Given the description of an element on the screen output the (x, y) to click on. 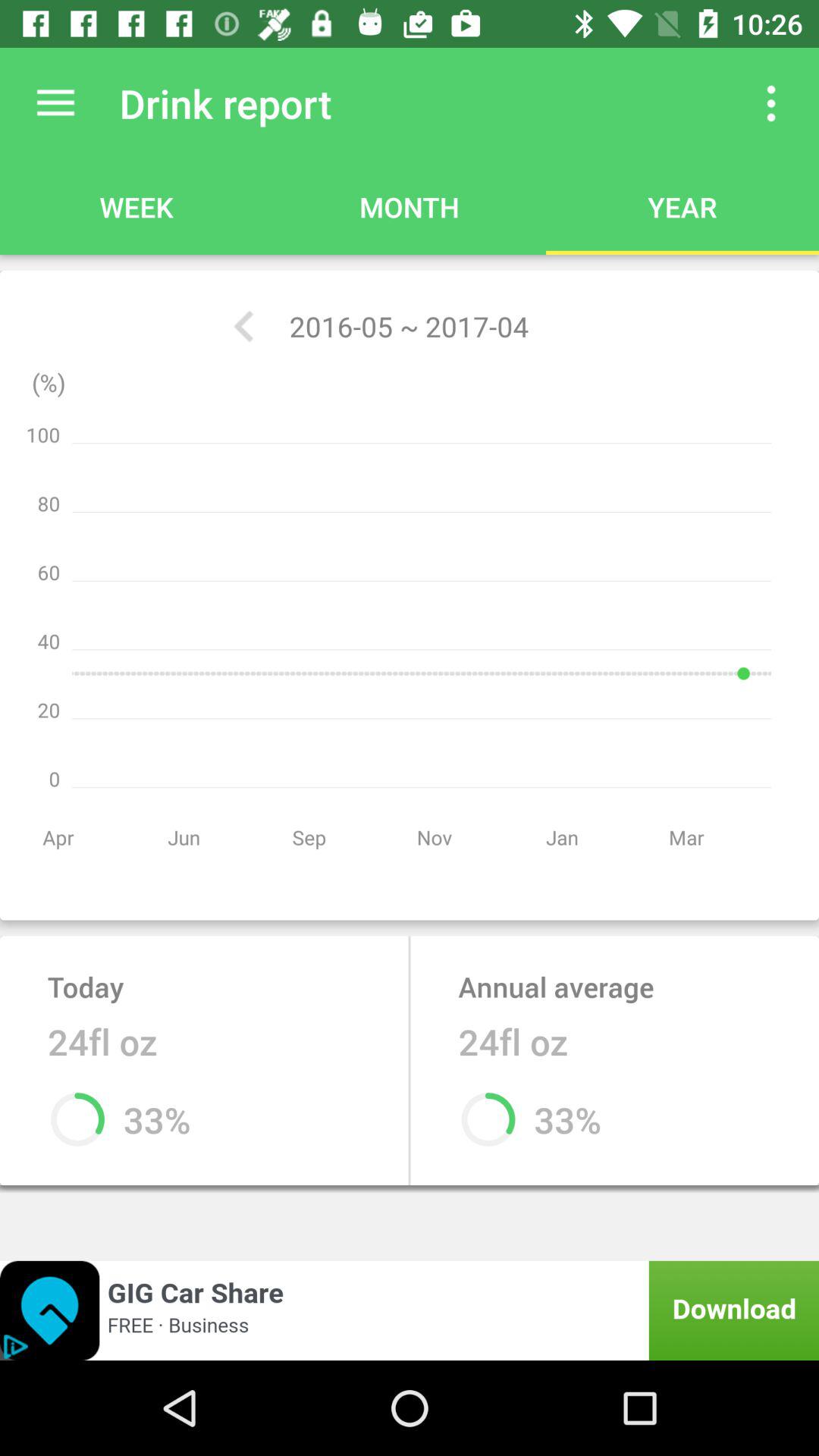
button to open up main menu (55, 103)
